Given the description of an element on the screen output the (x, y) to click on. 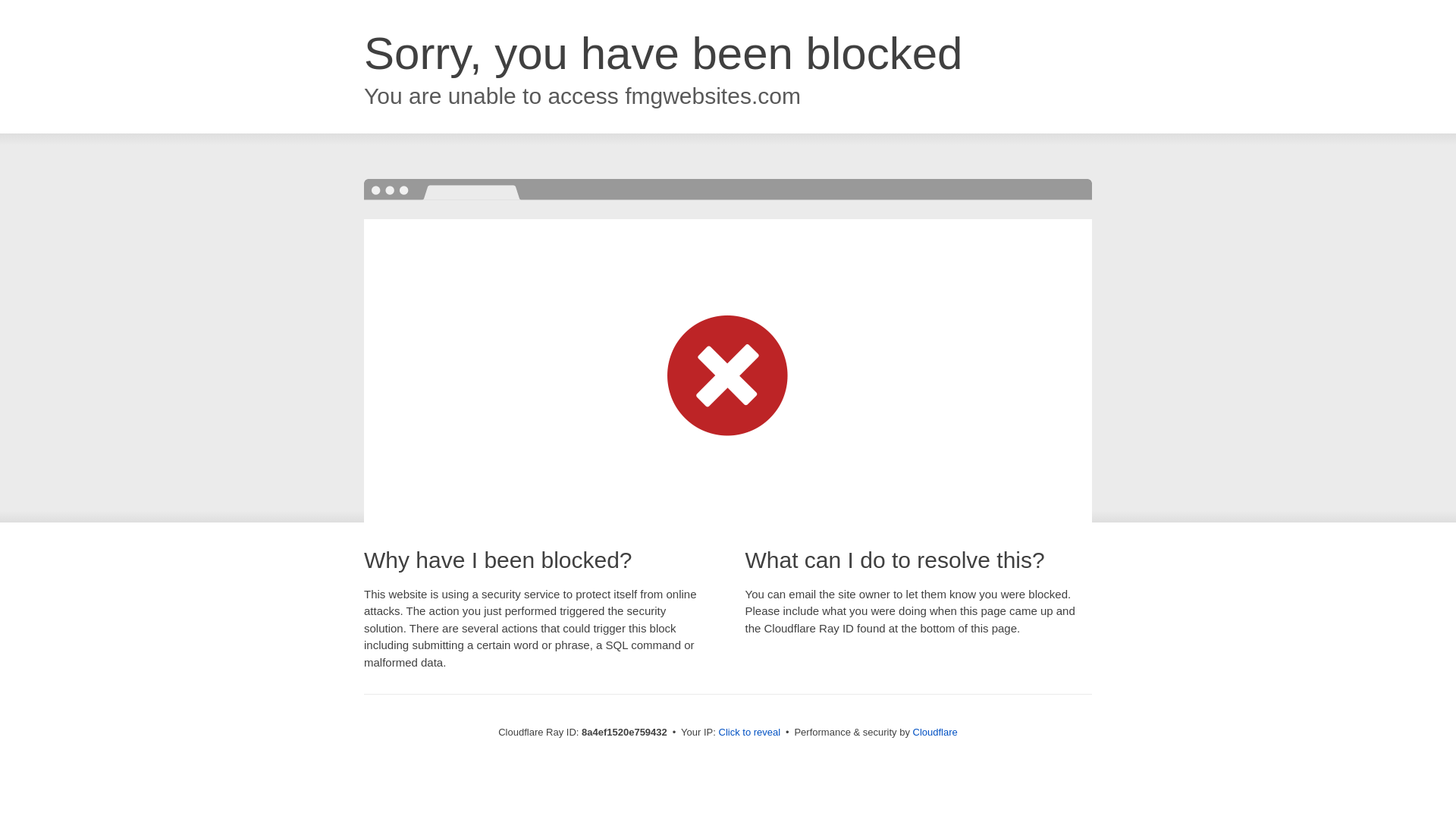
Click to reveal (749, 732)
Cloudflare (935, 731)
